Given the description of an element on the screen output the (x, y) to click on. 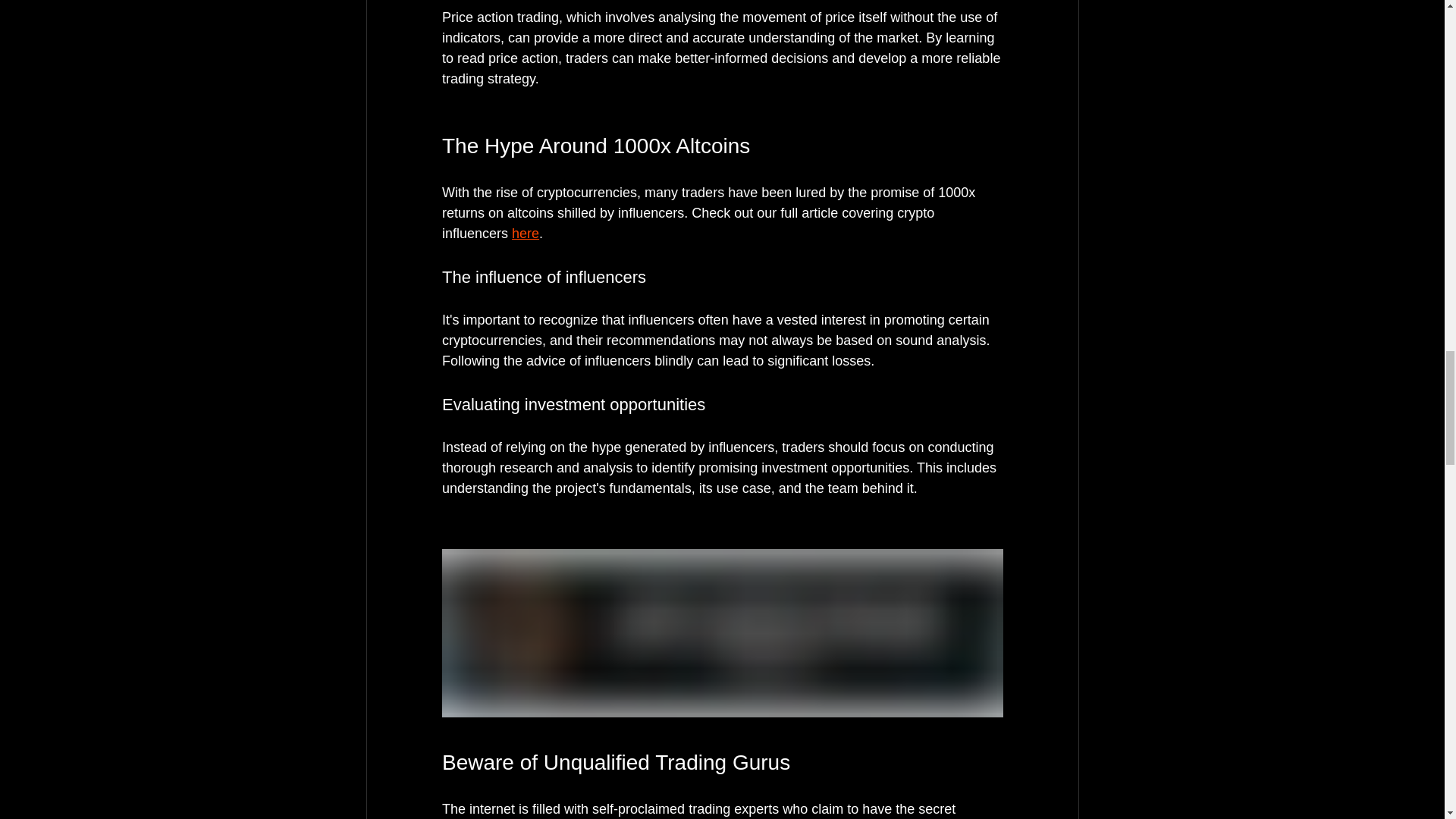
here (525, 233)
